Given the description of an element on the screen output the (x, y) to click on. 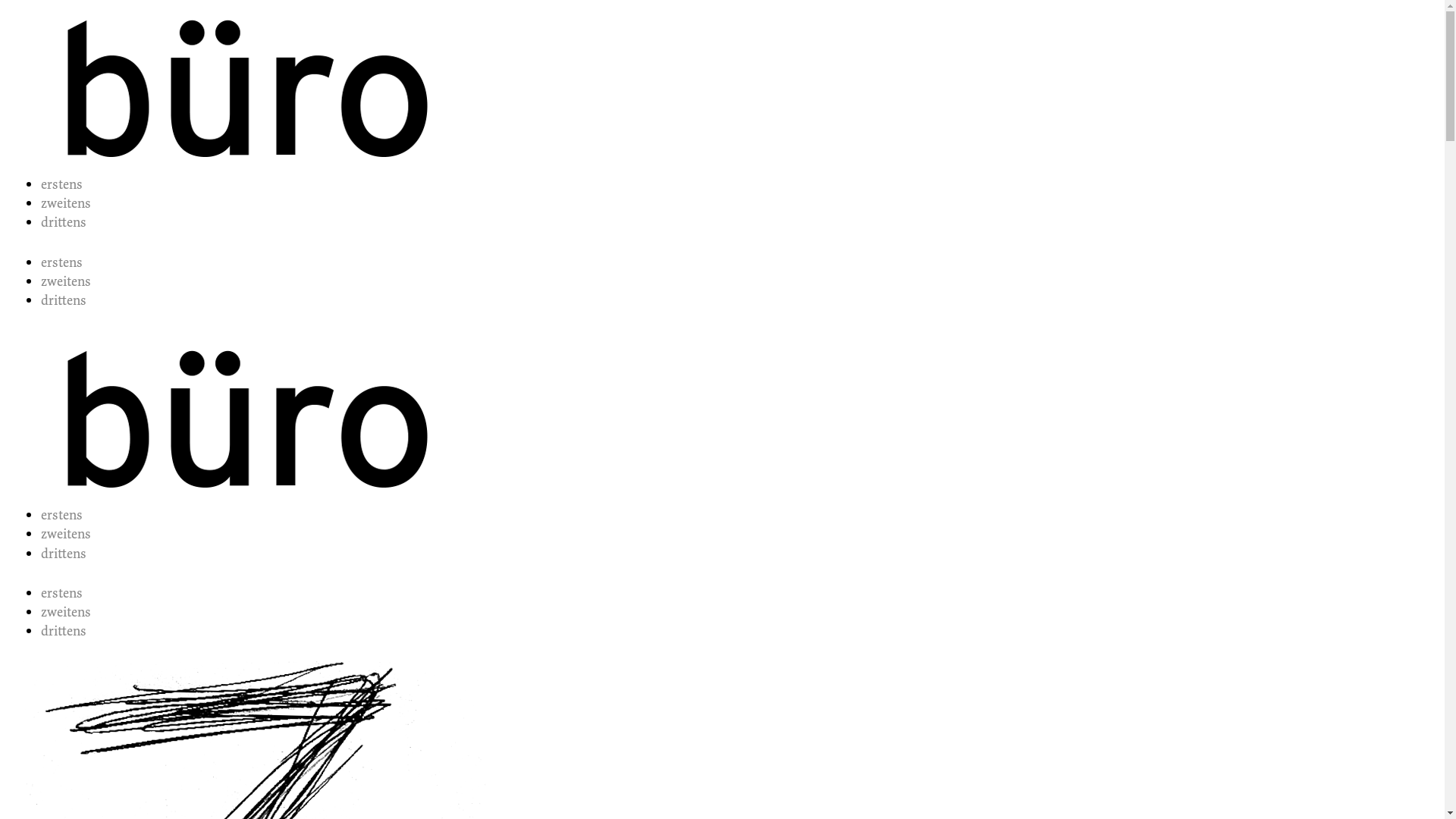
erstens Element type: text (61, 262)
drittens Element type: text (63, 222)
erstens Element type: text (61, 592)
zweitens Element type: text (65, 533)
drittens Element type: text (63, 553)
erstens Element type: text (61, 184)
zweitens Element type: text (65, 611)
drittens Element type: text (63, 300)
zweitens Element type: text (65, 203)
erstens Element type: text (61, 514)
drittens Element type: text (63, 630)
zweitens Element type: text (65, 281)
